Given the description of an element on the screen output the (x, y) to click on. 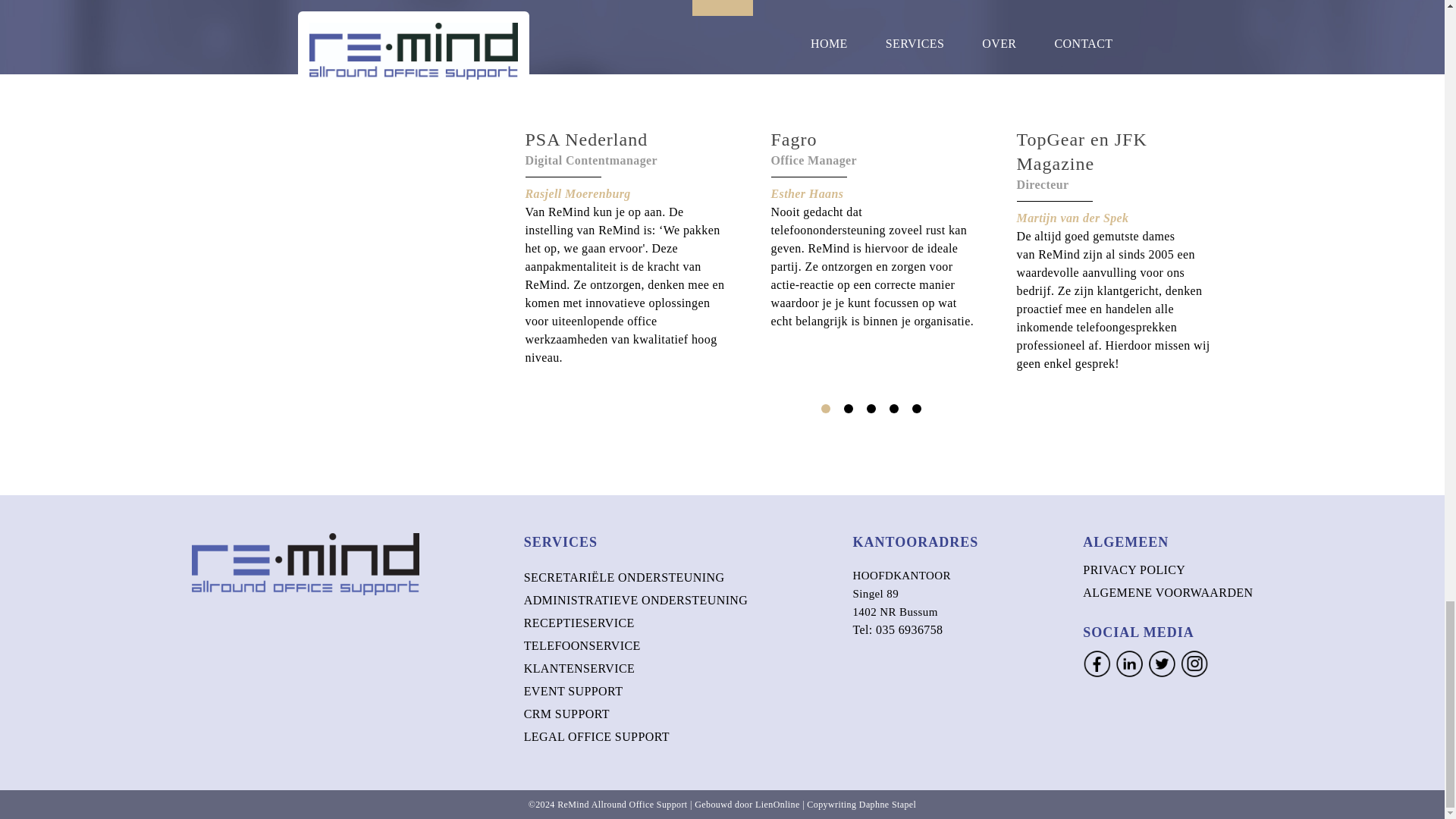
RECEPTIESERVICE (579, 622)
5 (915, 408)
KLANTENSERVICE (579, 667)
CRM SUPPORT (567, 713)
4 (893, 408)
TELEFOONSERVICE (582, 645)
LEGAL OFFICE SUPPORT (596, 736)
3 (870, 408)
1 (825, 408)
ALGEMENE VOORWAARDEN (1167, 592)
